Given the description of an element on the screen output the (x, y) to click on. 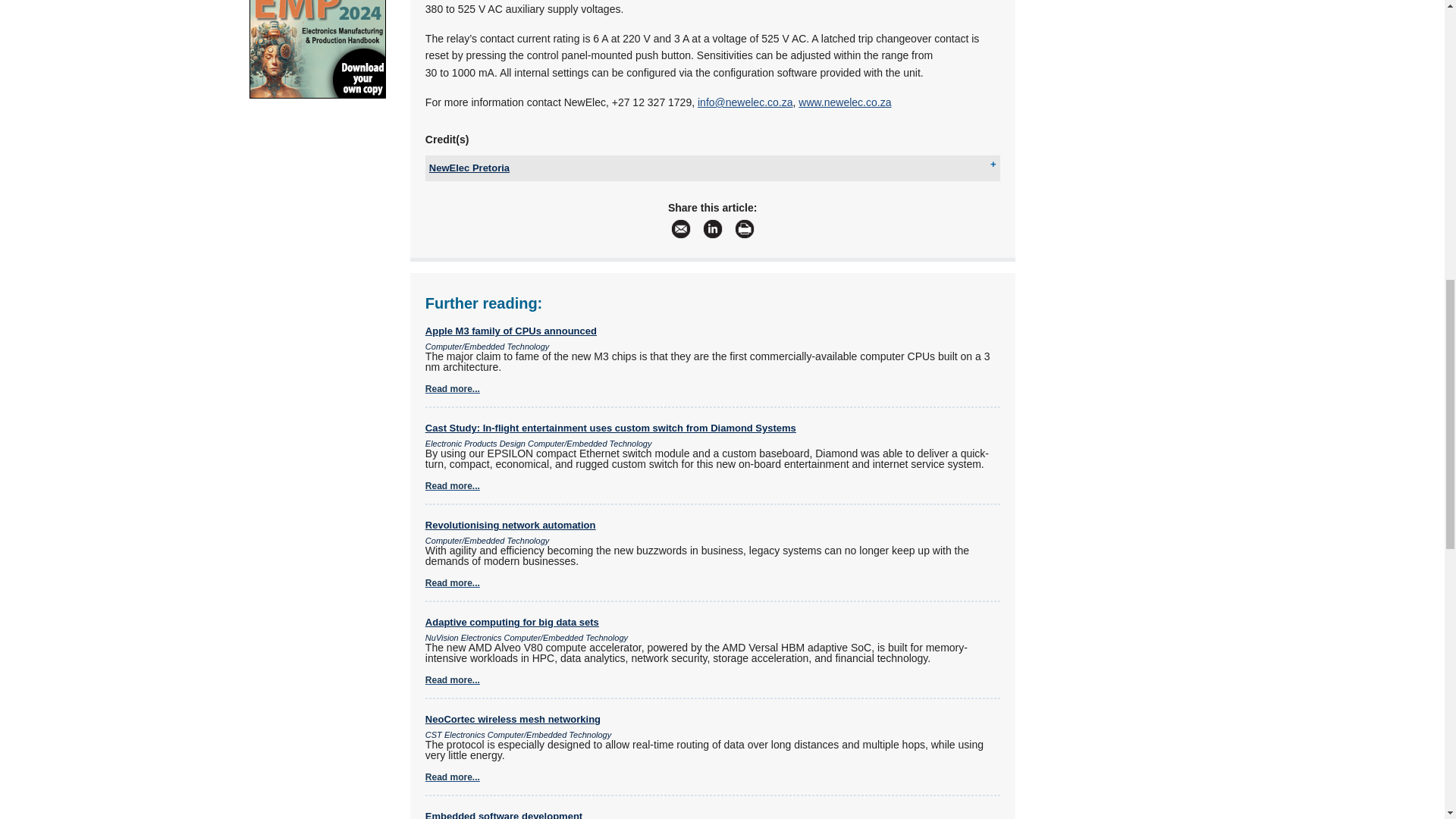
Share via LinkedIn (713, 228)
